Given the description of an element on the screen output the (x, y) to click on. 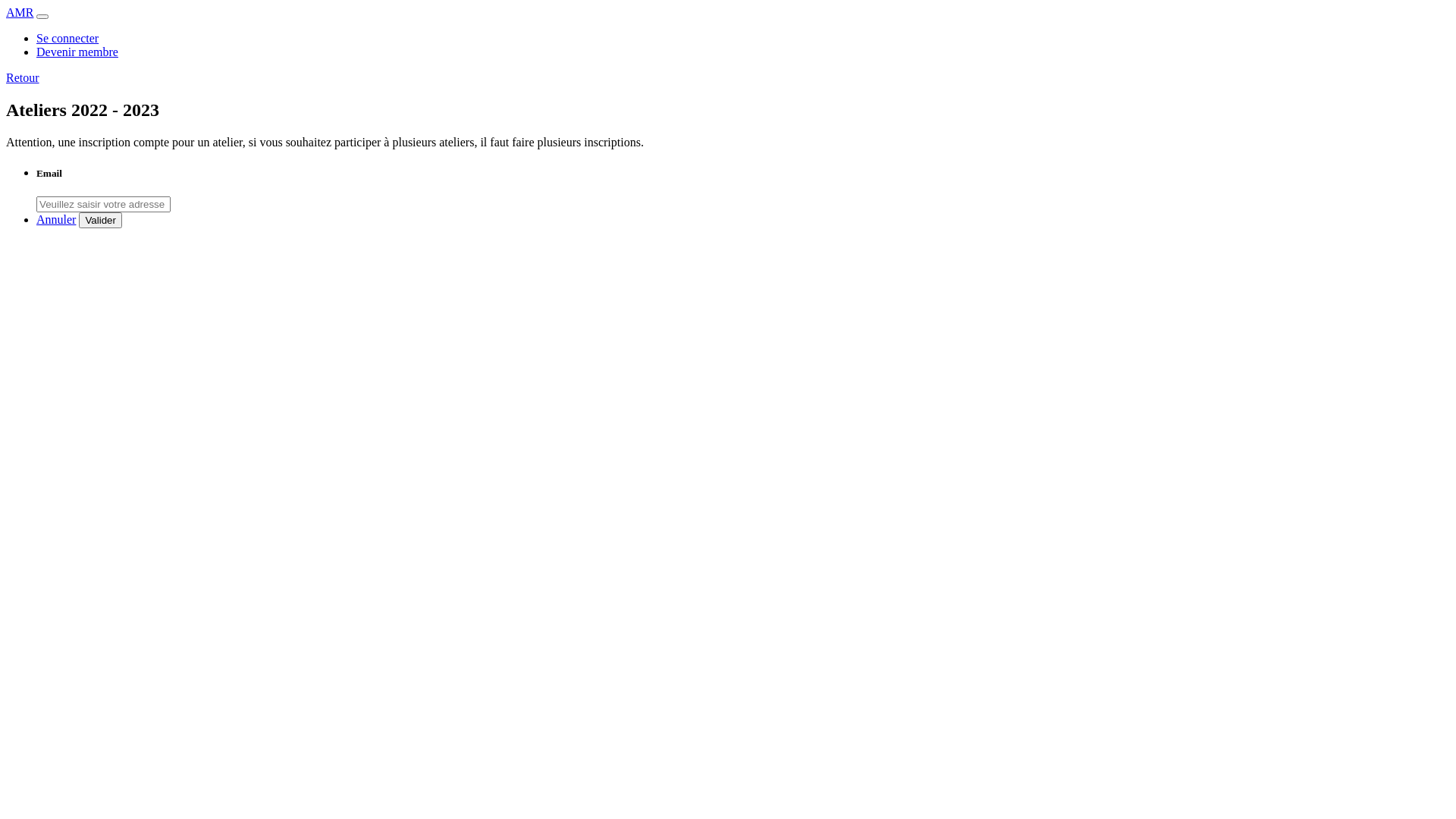
Retour Element type: text (22, 77)
Valider Element type: text (100, 220)
Se connecter Element type: text (67, 37)
Devenir membre Element type: text (77, 51)
AMR Element type: text (19, 12)
Annuler Element type: text (55, 219)
